Given the description of an element on the screen output the (x, y) to click on. 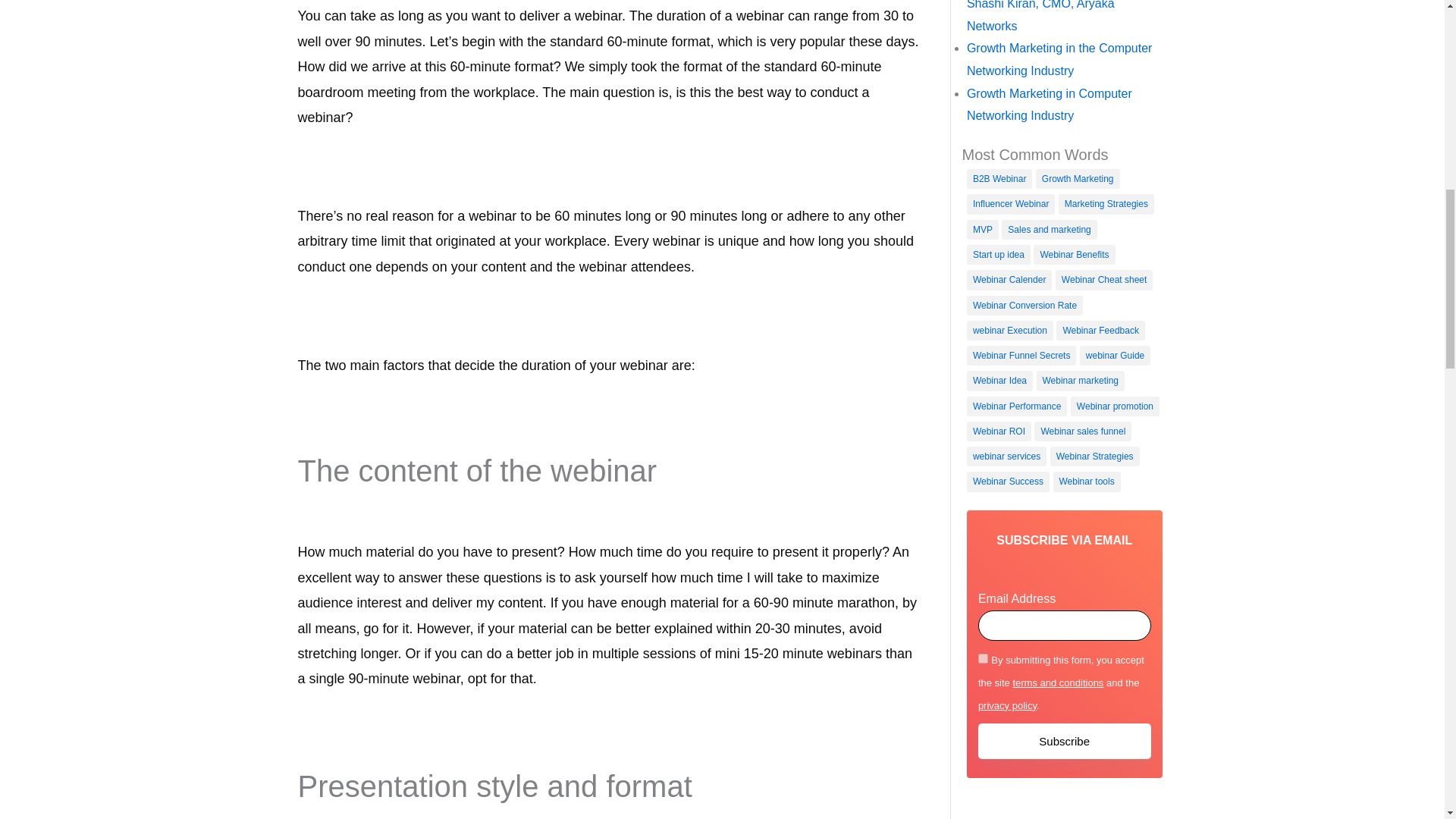
on (983, 658)
